Given the description of an element on the screen output the (x, y) to click on. 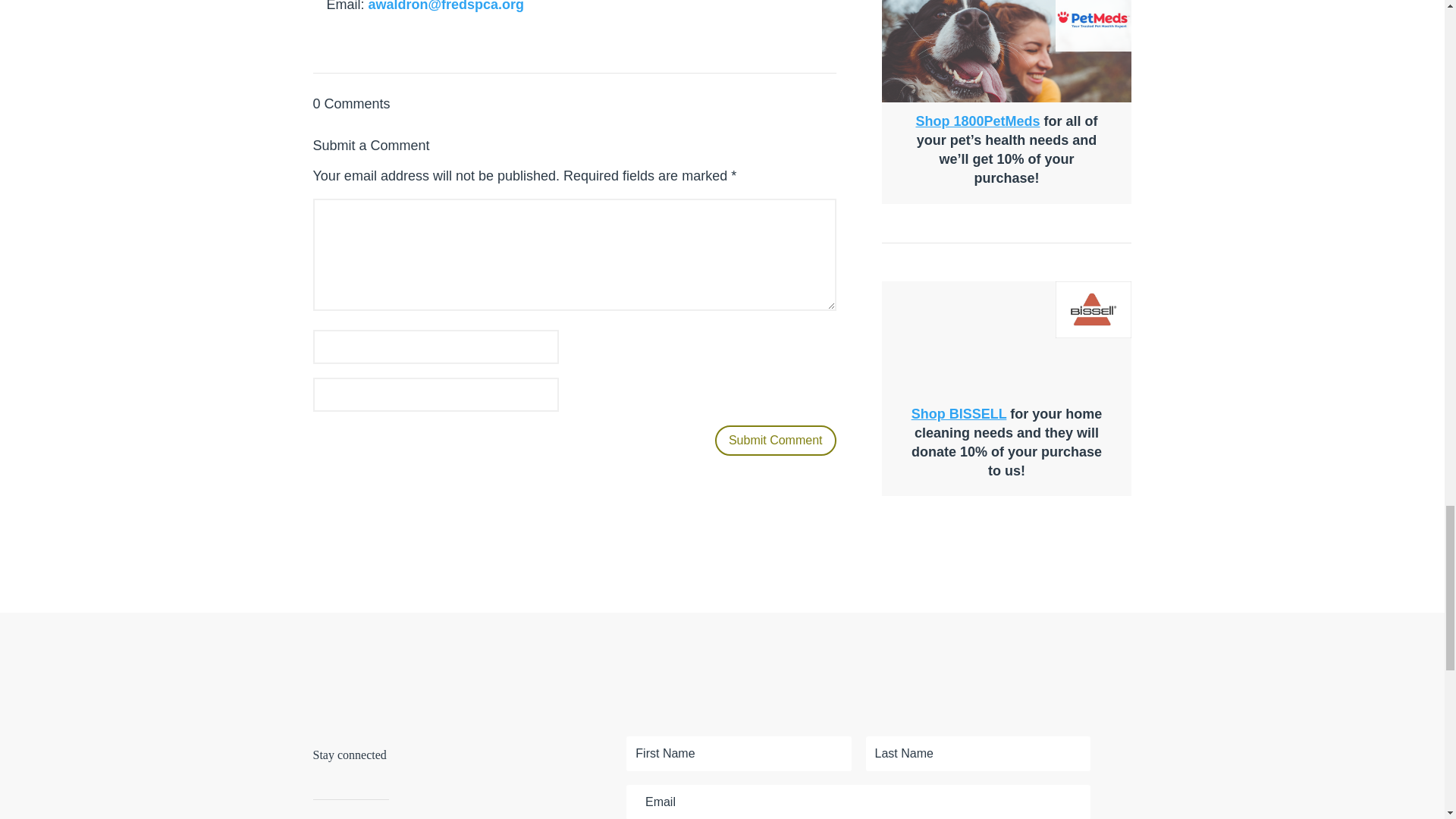
PetMeds Logo 300x250 (1093, 25)
Shop Bissell Today! (1093, 309)
